Given the description of an element on the screen output the (x, y) to click on. 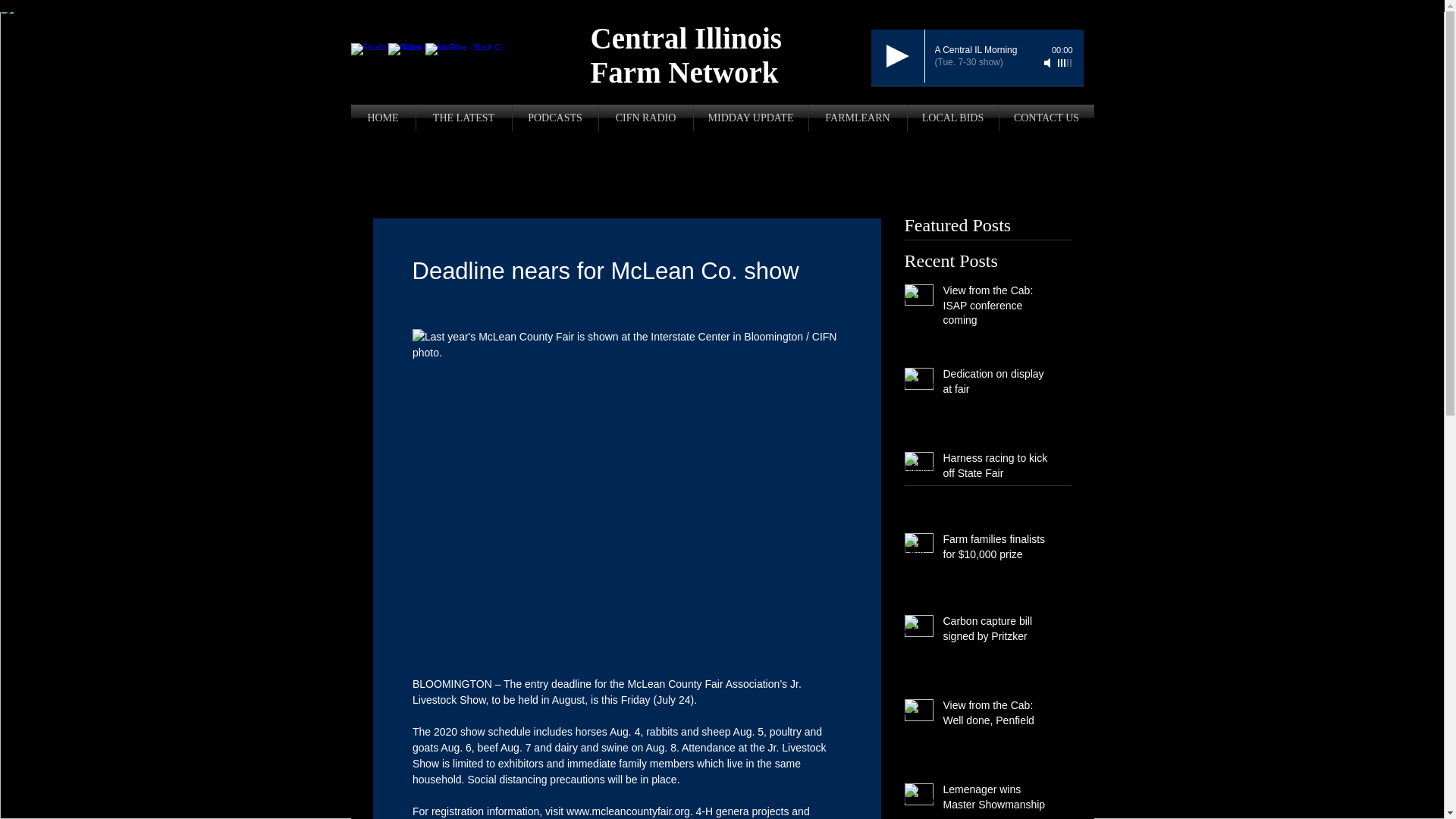
Harness racing to kick off State Fair (997, 468)
View from the Cab: Well done, Penfield (997, 715)
THE LATEST (462, 117)
HOME (382, 117)
0 (976, 84)
CONTACT US (1046, 117)
LOCAL BIDS (952, 117)
PODCASTS (555, 117)
CIFN RADIO (645, 117)
Dedication on display at fair (997, 384)
View from the Cab: ISAP conference coming (997, 308)
MIDDAY UPDATE (750, 117)
Carbon capture bill signed by Pritzker (997, 632)
FARMLEARN (856, 117)
Lemenager wins Master Showmanship (997, 800)
